Given the description of an element on the screen output the (x, y) to click on. 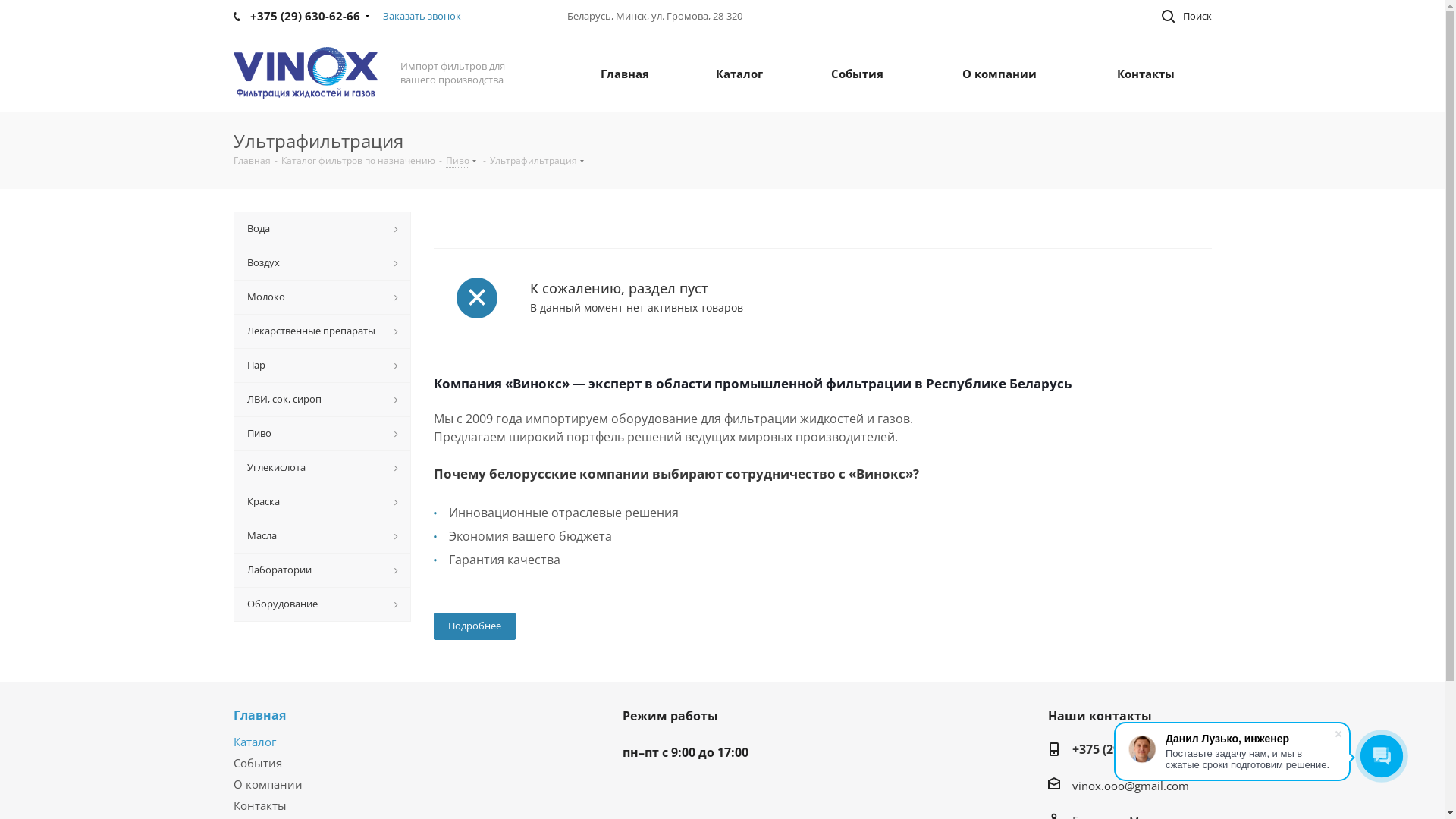
vinox.ooo@gmail.com Element type: text (1130, 785)
+375 (29) 630-62-66 Element type: text (1127, 750)
